Given the description of an element on the screen output the (x, y) to click on. 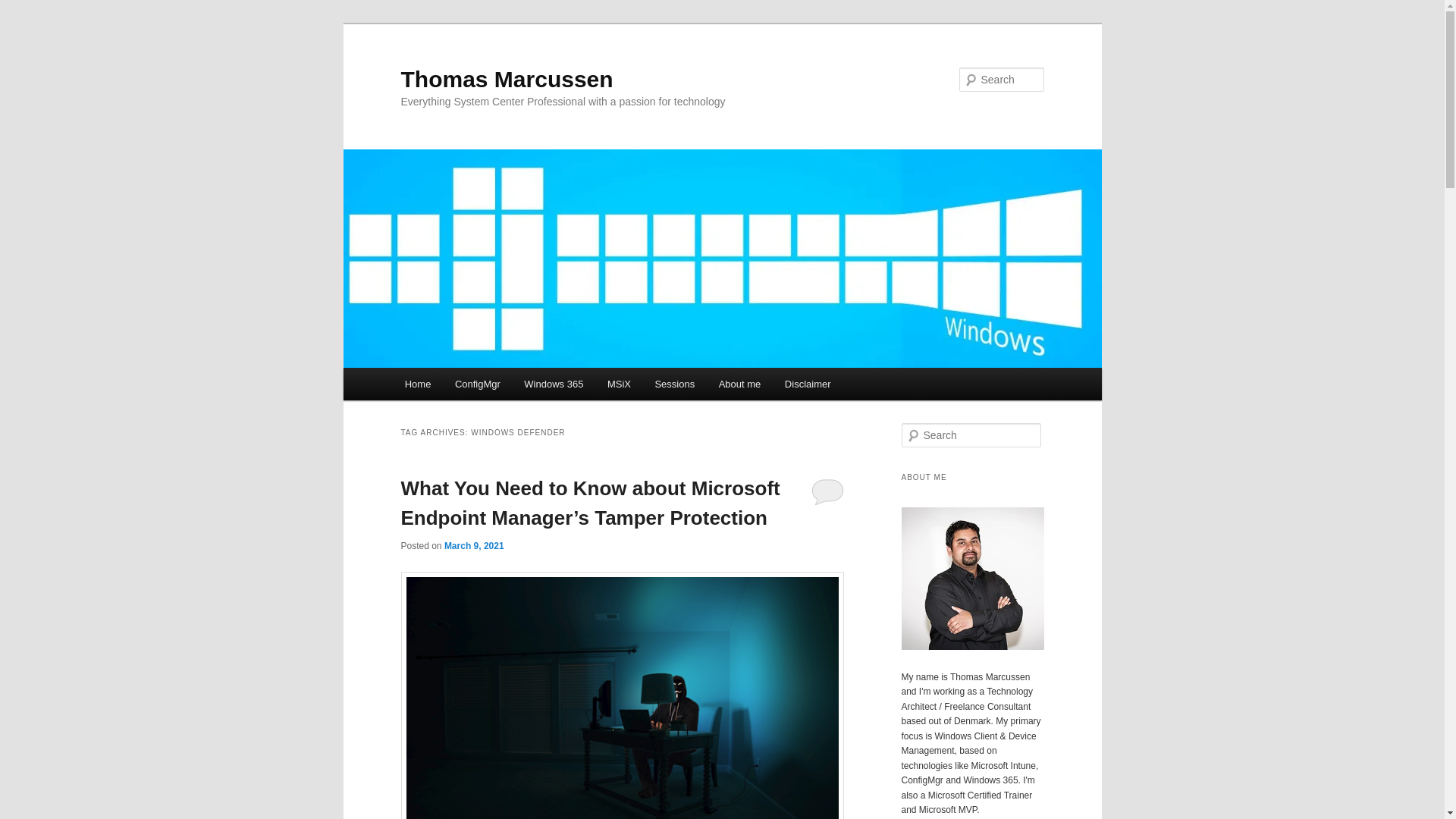
Search (24, 8)
Disclaimer (808, 383)
3:02 pm (473, 545)
Sessions (674, 383)
ConfigMgr (477, 383)
Home (417, 383)
About me (739, 383)
March 9, 2021 (473, 545)
Thomas Marcussen (506, 78)
Search (21, 11)
MSiX (619, 383)
Windows 365 (553, 383)
